Given the description of an element on the screen output the (x, y) to click on. 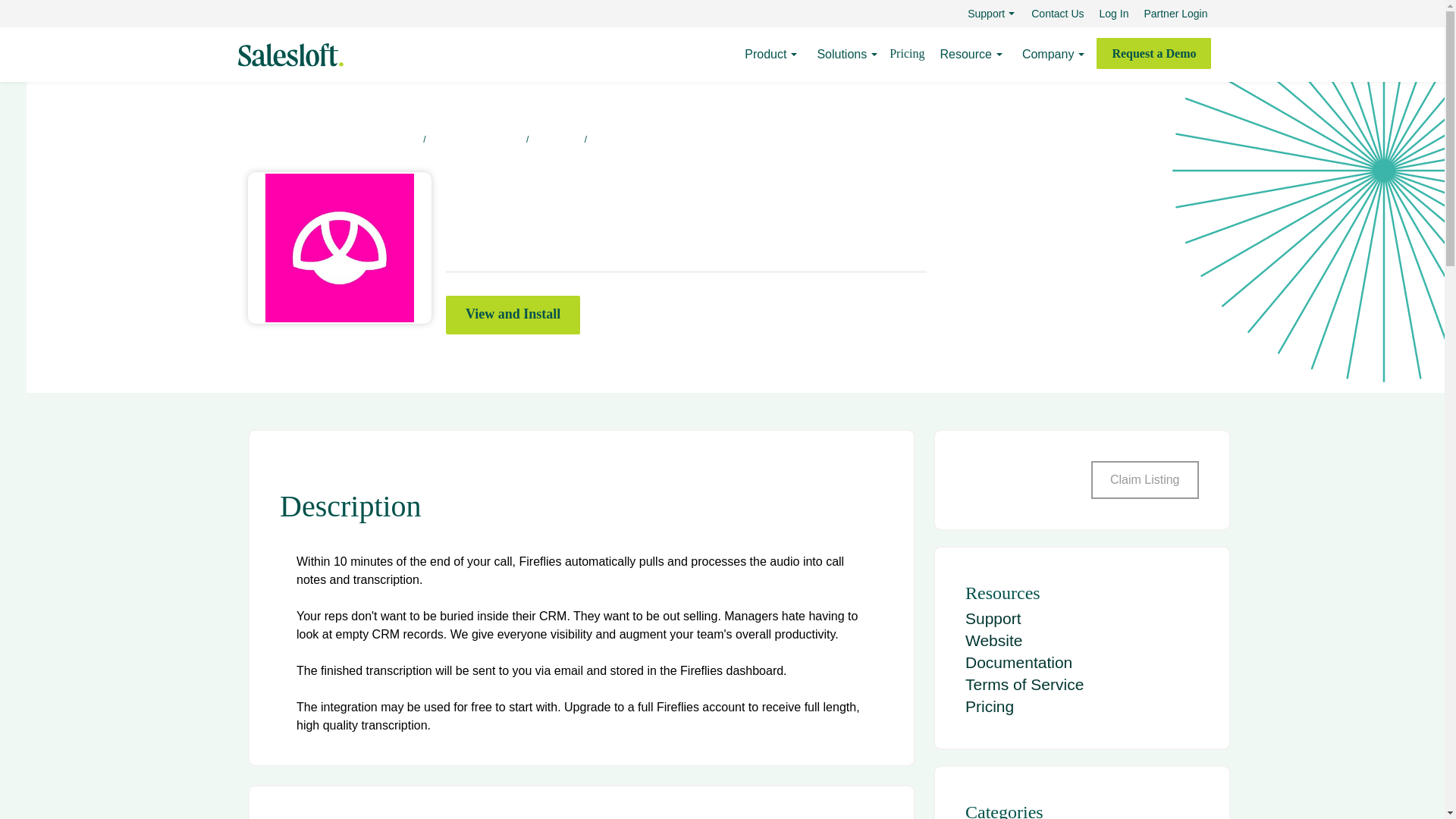
Support (985, 13)
Log In (1114, 13)
Pricing (906, 55)
Resource (964, 54)
Partner Login (1174, 13)
Contact Us (1056, 13)
Solutions (842, 54)
Product (764, 54)
